Given the description of an element on the screen output the (x, y) to click on. 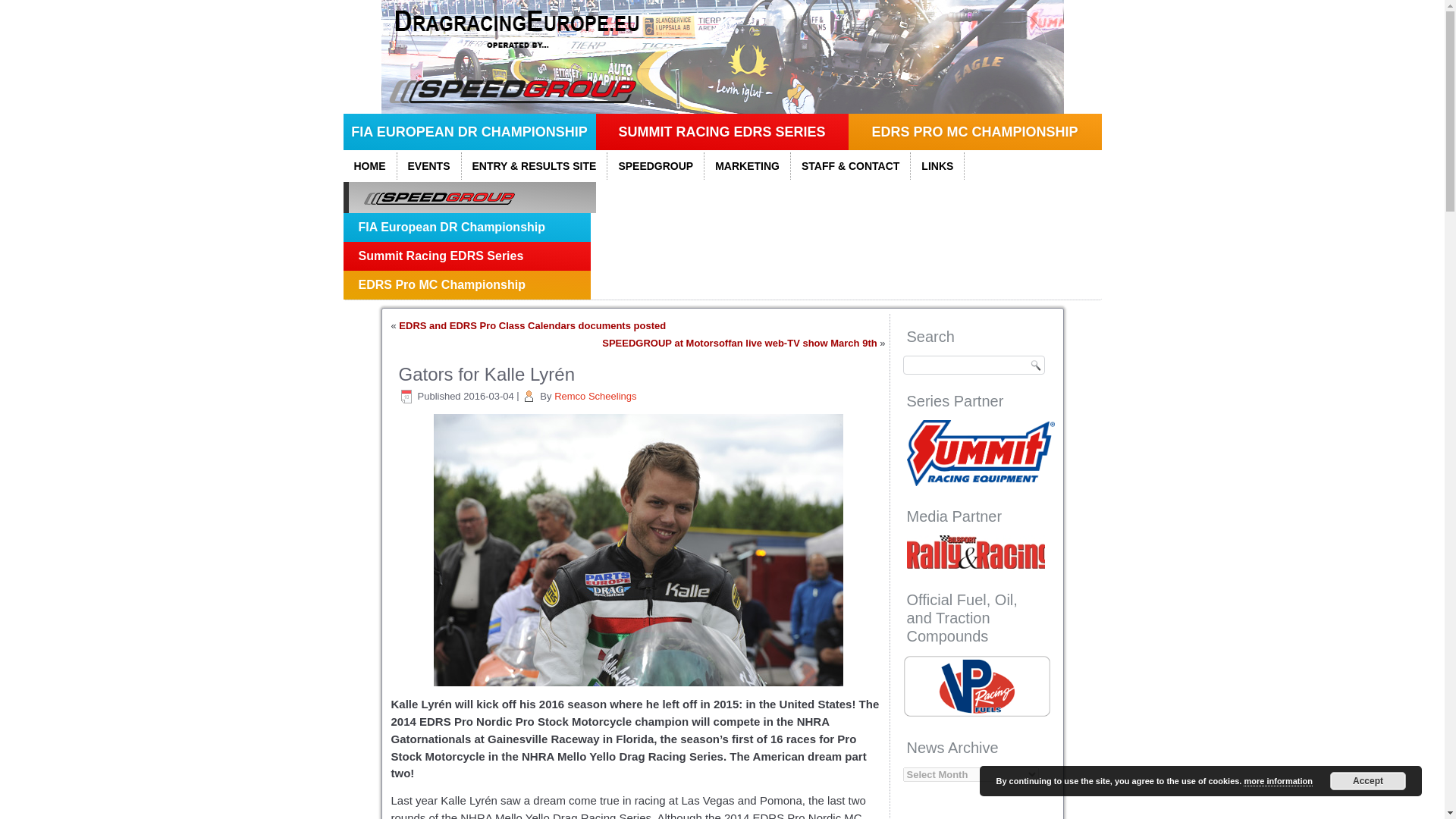
EDRS and EDRS Pro Class Calendars documents posted (531, 325)
Speedgroup (655, 165)
View all posts by Remco Scheelings (595, 396)
SPEEDGROUP (655, 165)
Home (369, 165)
SUMMIT RACING EDRS SERIES (721, 131)
MARKETING (747, 165)
FIA European DR Championship (466, 226)
Events (429, 165)
FIA EUROPEAN DR CHAMPIONSHIP (468, 131)
